Given the description of an element on the screen output the (x, y) to click on. 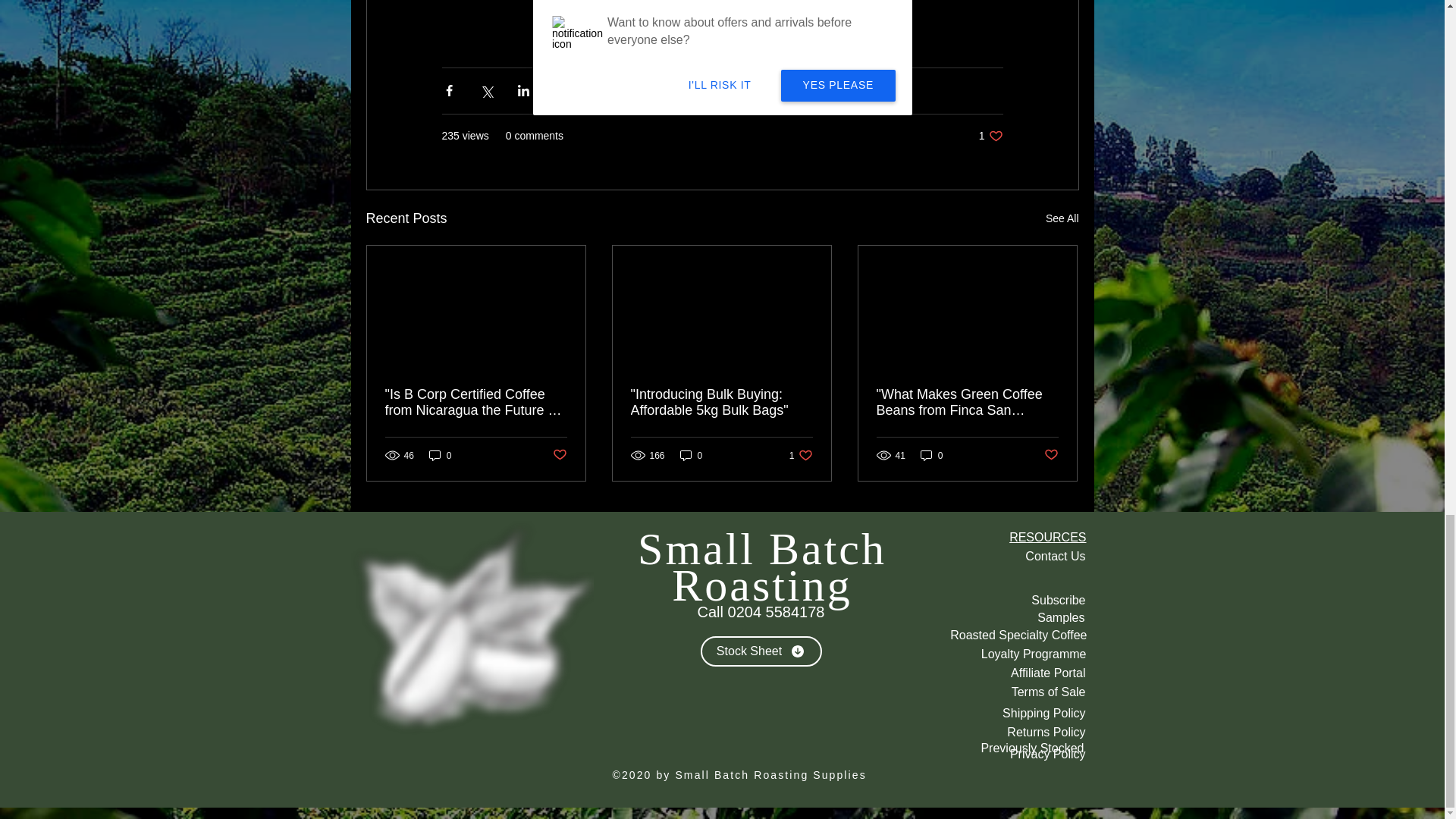
See All (1061, 219)
